Given the description of an element on the screen output the (x, y) to click on. 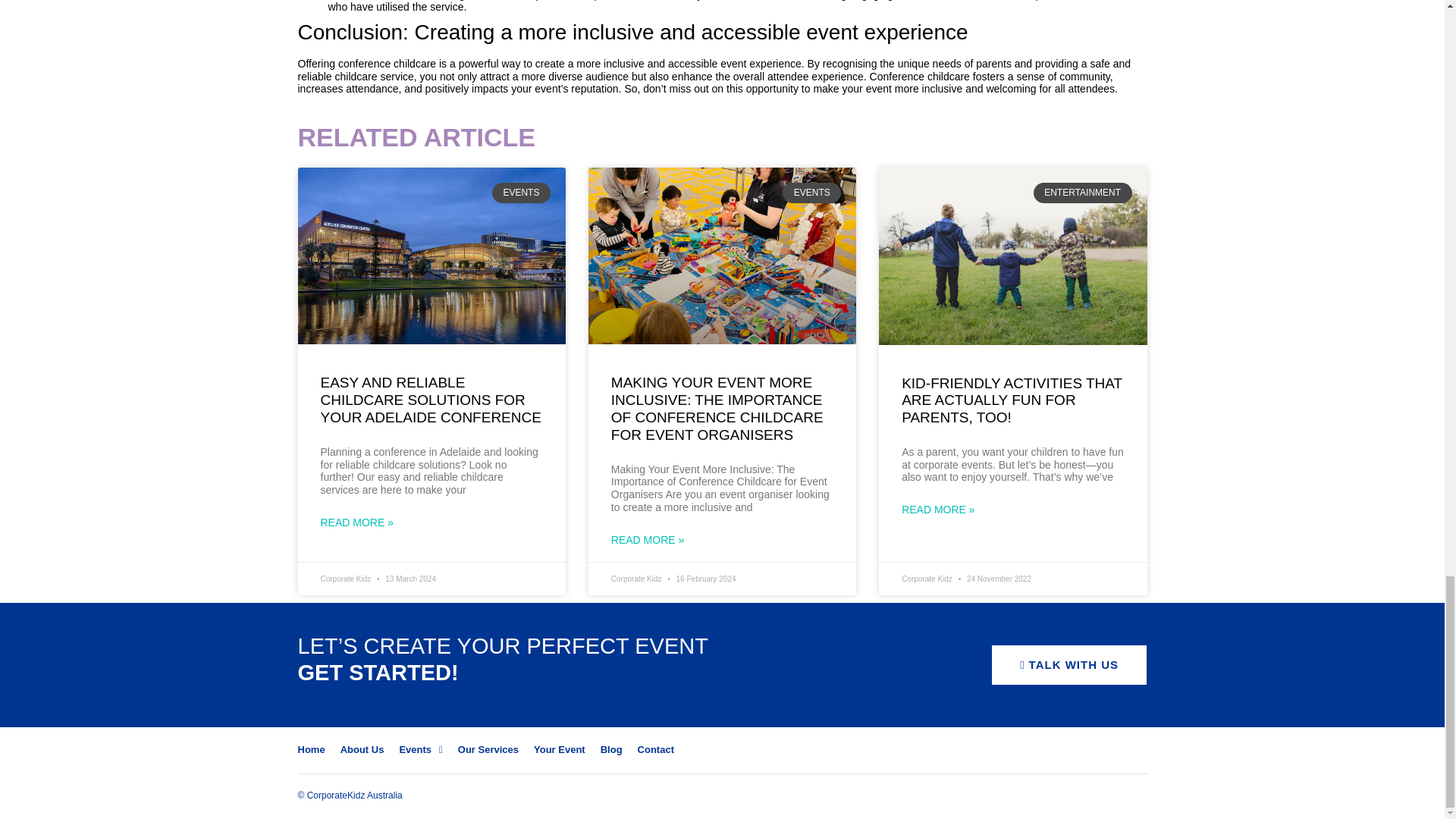
TALK WITH US (1069, 664)
Home (310, 749)
About Us (362, 749)
